Given the description of an element on the screen output the (x, y) to click on. 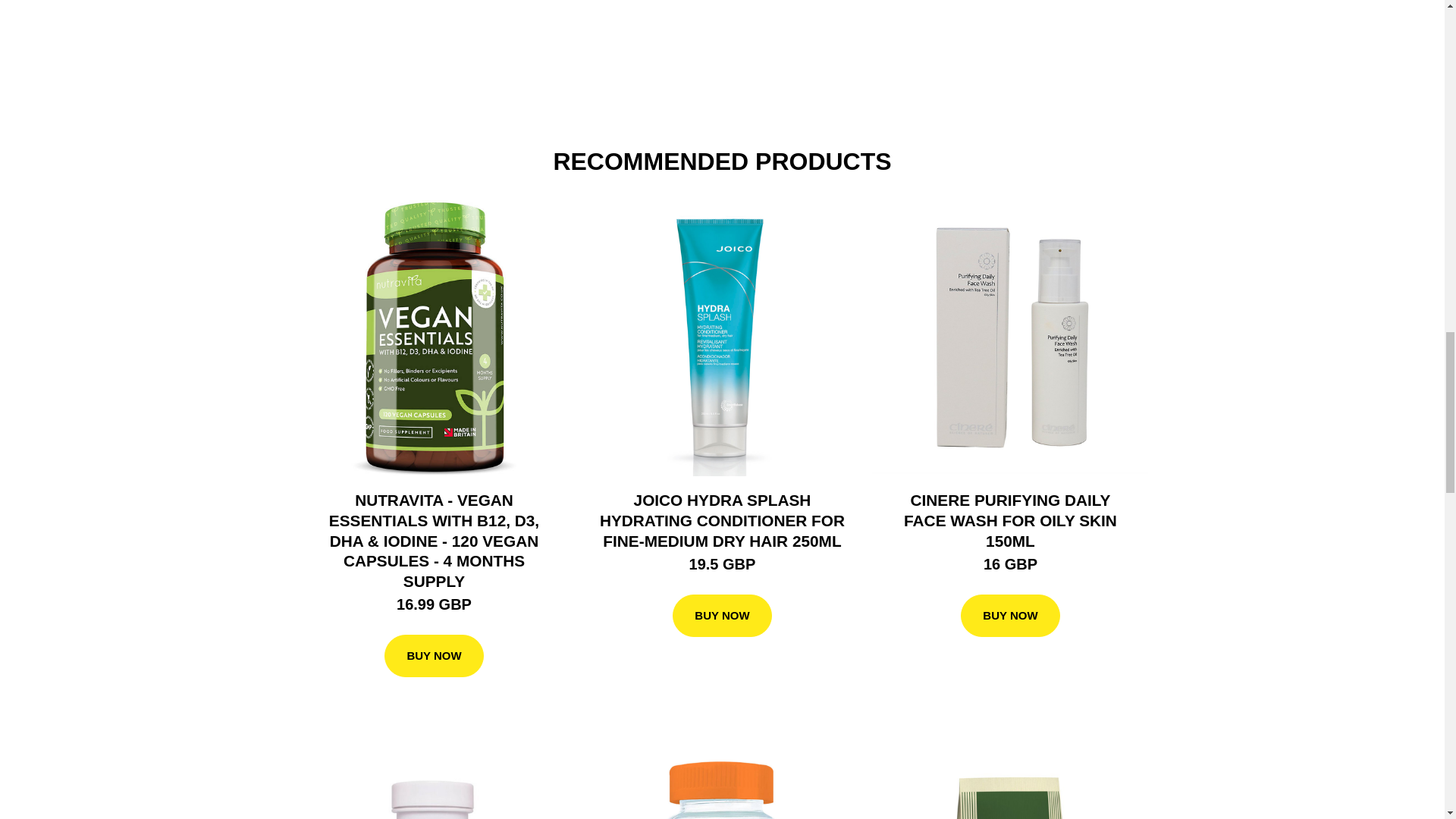
BUY NOW (721, 615)
CINERE PURIFYING DAILY FACE WASH FOR OILY SKIN 150ML (1010, 519)
BUY NOW (433, 655)
BUY NOW (1009, 615)
